Given the description of an element on the screen output the (x, y) to click on. 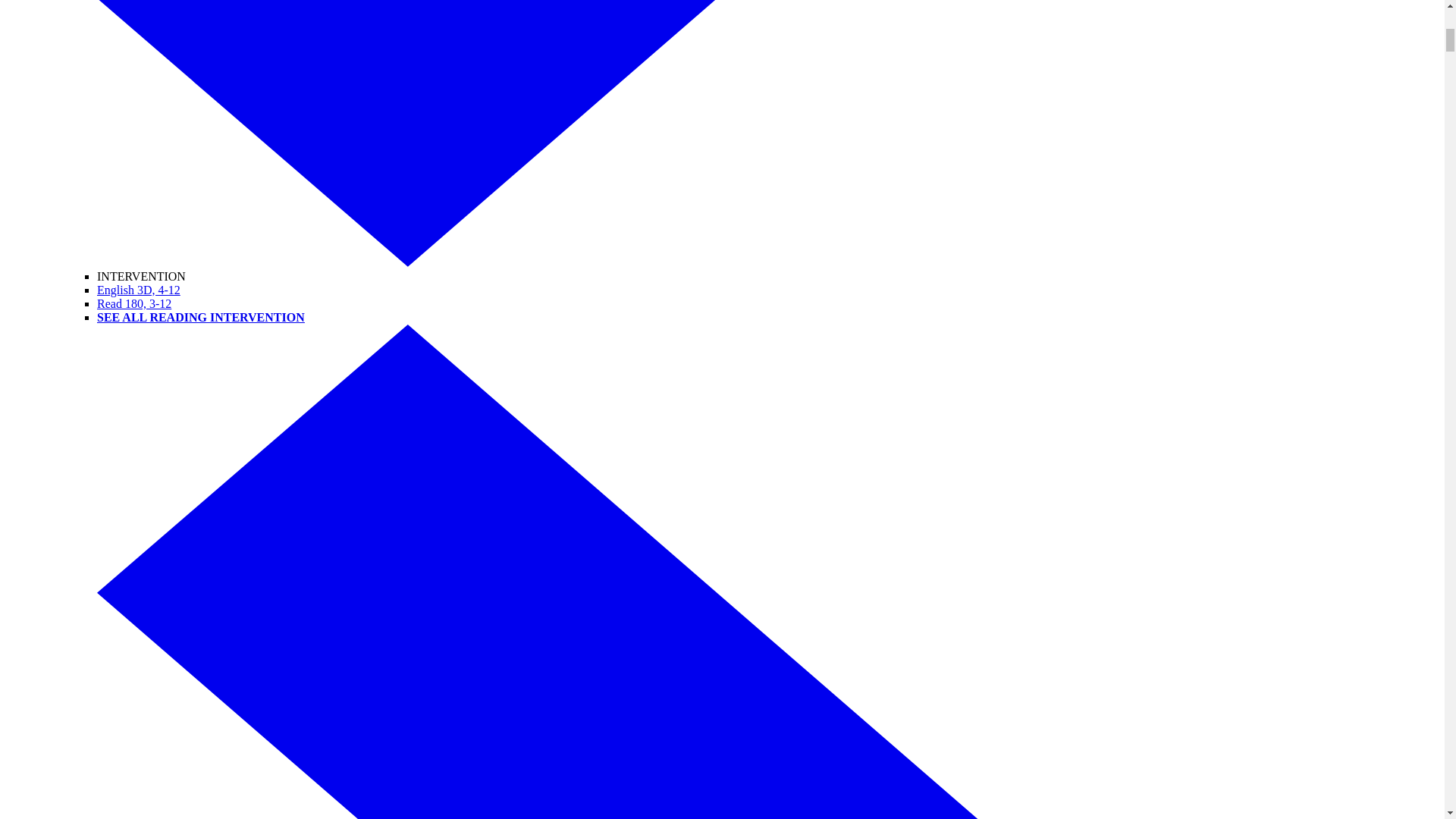
Read 180, 3-12 (134, 303)
English 3D, 4-12 (138, 289)
Read 180, 3-12 (134, 303)
English 3D, 4-12 (138, 289)
